Given the description of an element on the screen output the (x, y) to click on. 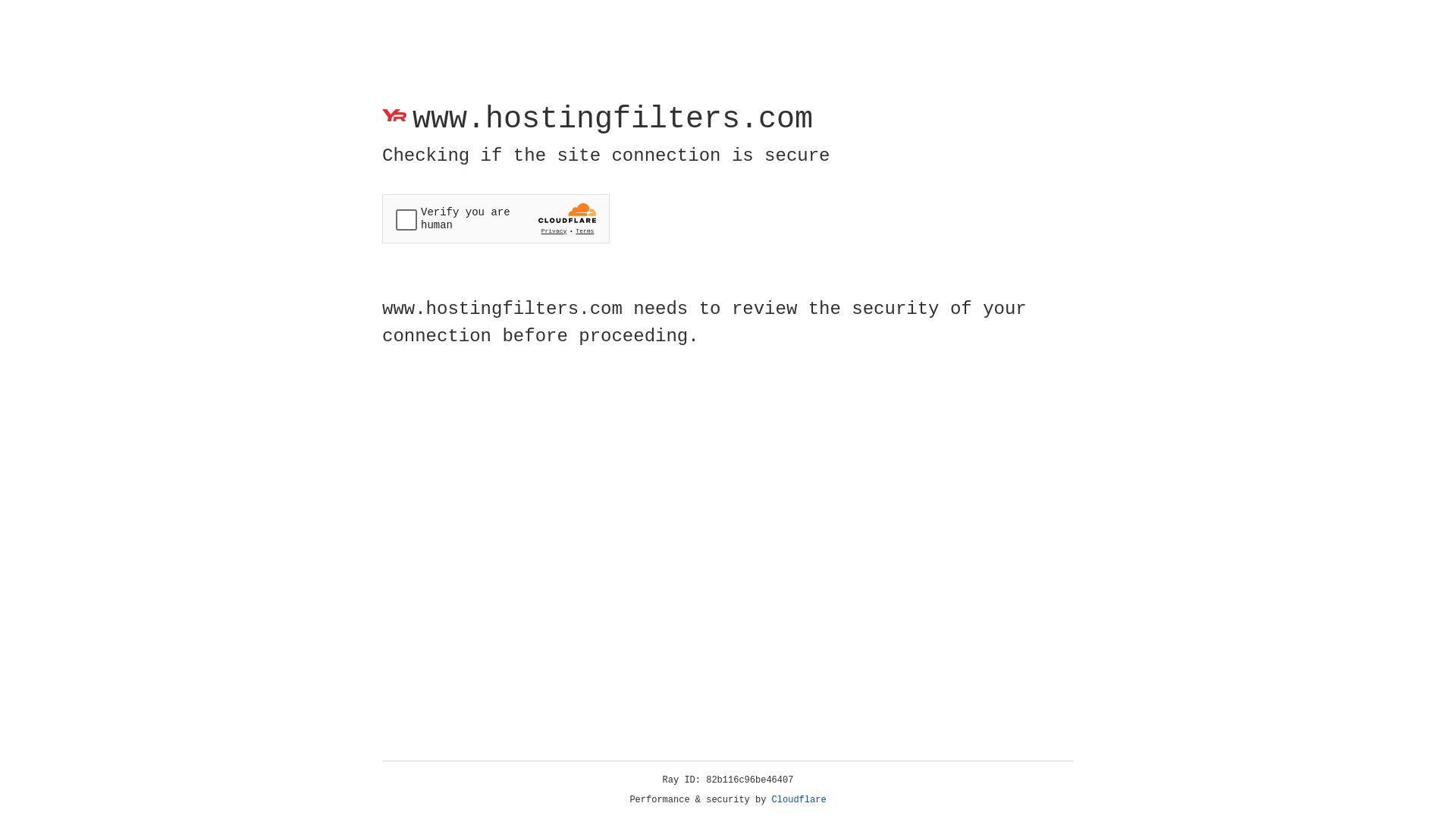
Widget containing a Cloudflare security challenge Element type: hover (495, 218)
Cloudflare Element type: text (798, 799)
